Given the description of an element on the screen output the (x, y) to click on. 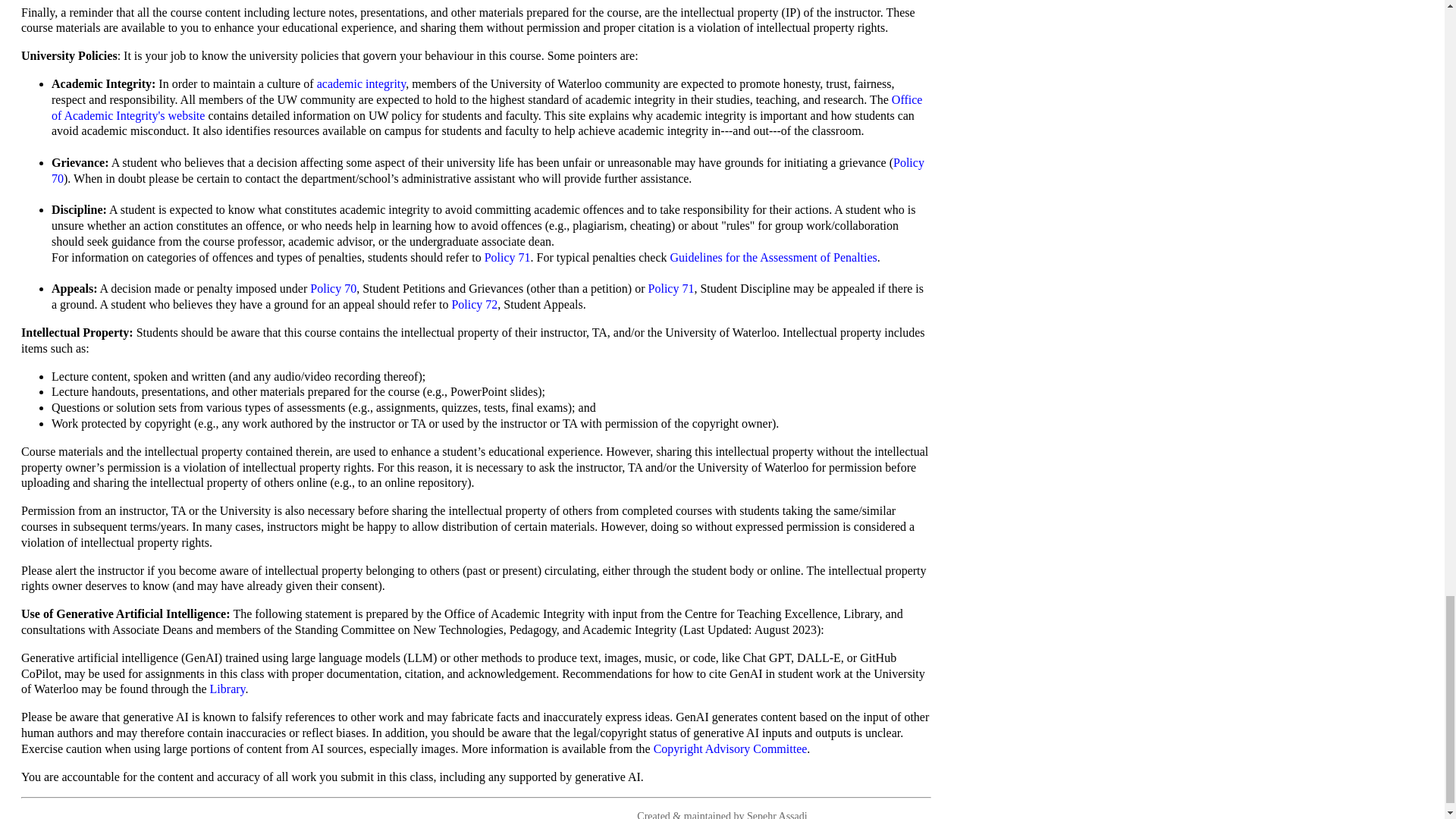
Policy 71 (507, 256)
academic integrity (361, 83)
Policy 72 (474, 304)
Office of Academic Integrity's website (485, 107)
Library (227, 688)
Policy 70 (487, 170)
Guidelines for the Assessment of Penalties (773, 256)
Policy 70 (333, 287)
Policy 71 (670, 287)
Copyright Advisory Committee (730, 748)
